Given the description of an element on the screen output the (x, y) to click on. 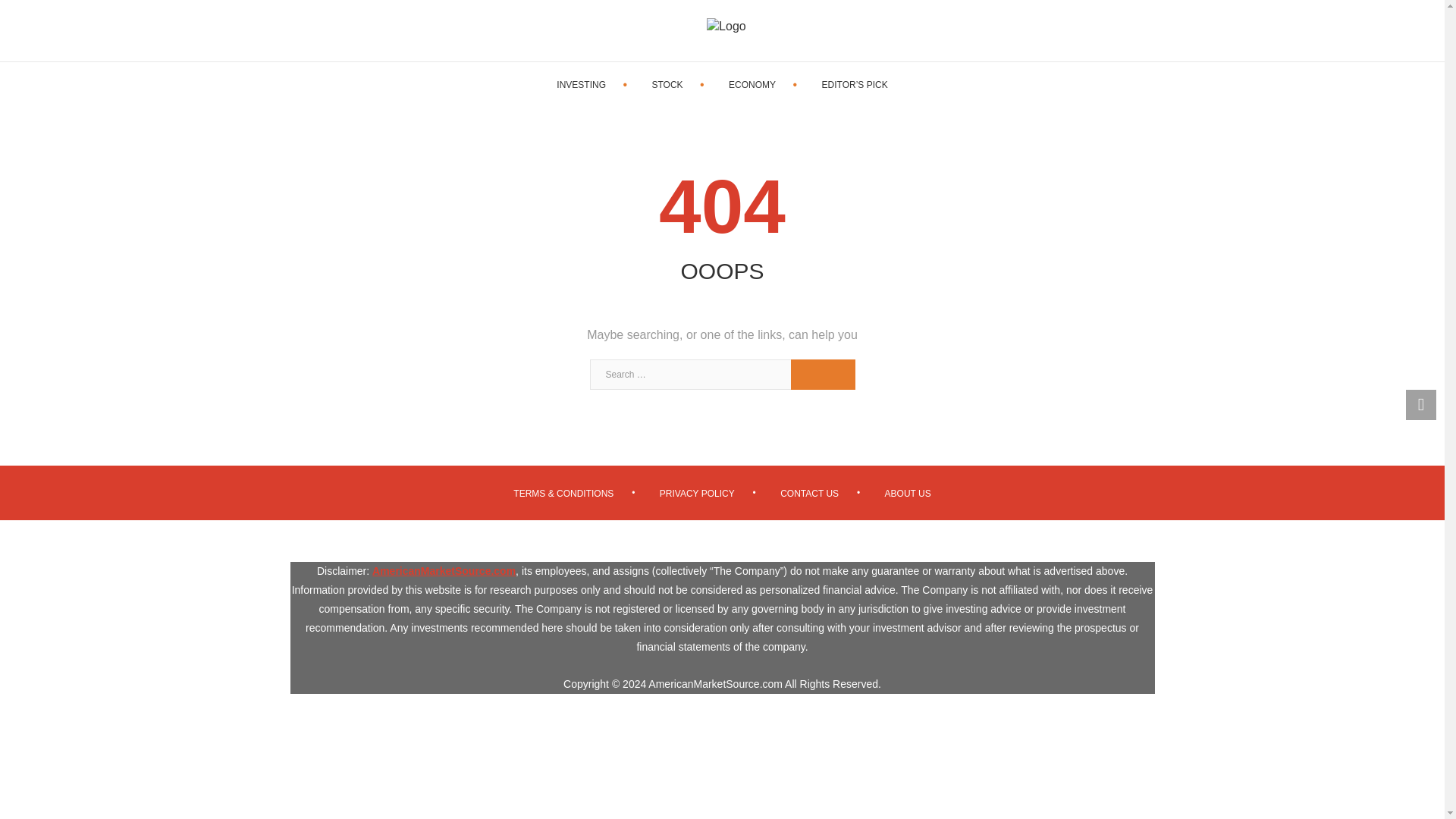
Search (822, 374)
AmericanMarketSource.com (443, 571)
STOCK (666, 84)
Stock (666, 84)
PRIVACY POLICY (697, 493)
ABOUT US (908, 493)
Search (822, 374)
Editor's Pick (855, 84)
Search (822, 374)
CONTACT US (809, 493)
INVESTING (580, 84)
ECONOMY (752, 84)
Investing (580, 84)
Economy (752, 84)
